Given the description of an element on the screen output the (x, y) to click on. 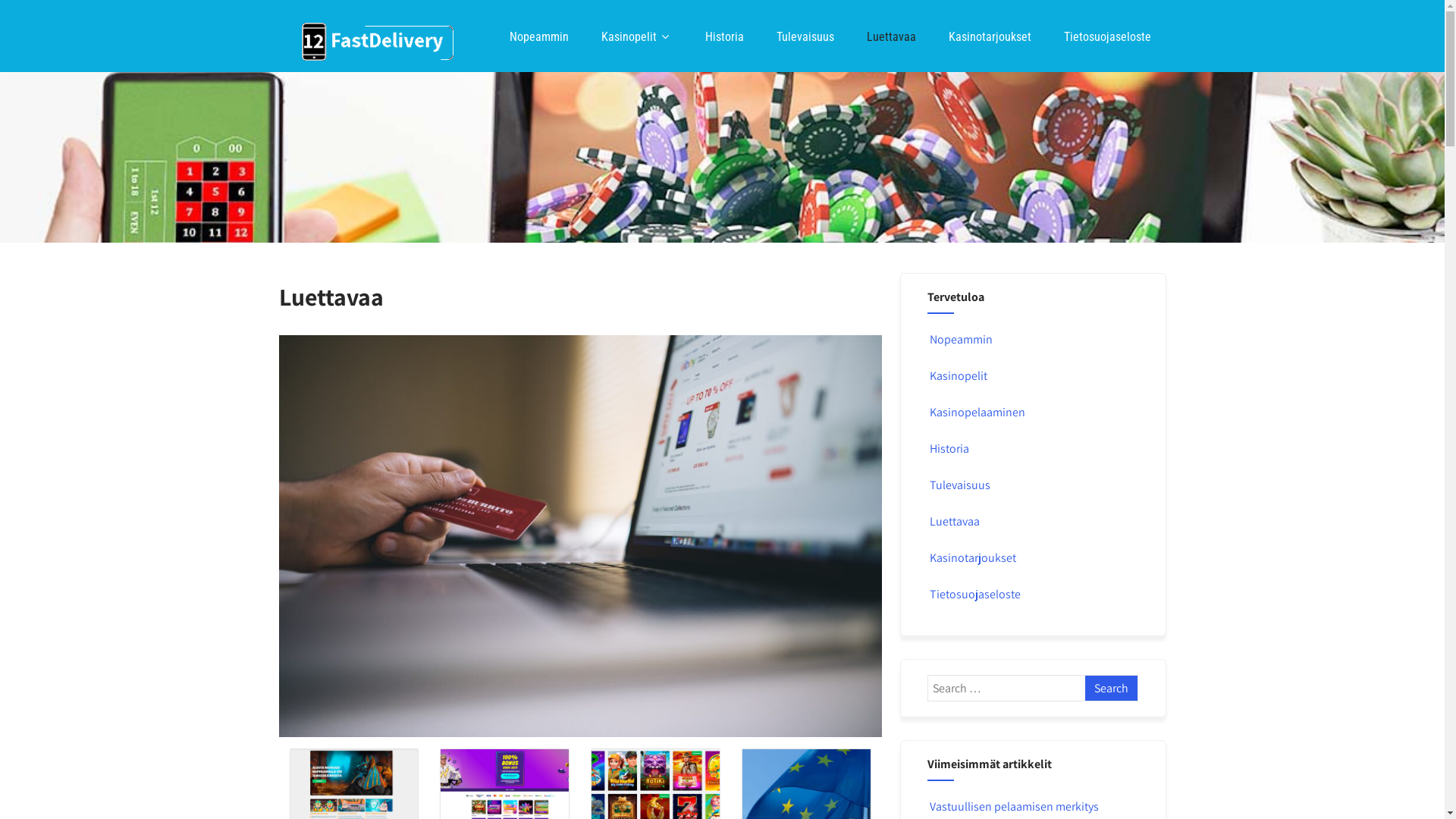
Kasinopelit Element type: text (957, 375)
Nopeammin Element type: text (538, 36)
Tietosuojaseloste Element type: text (1106, 36)
Tietosuojaseloste Element type: text (973, 594)
Historia Element type: text (948, 448)
Kasinotarjoukset Element type: text (971, 557)
Search Element type: text (1111, 687)
Kasinotarjoukset Element type: text (988, 36)
Historia Element type: text (724, 36)
Tulevaisuus Element type: text (805, 36)
Kasinopelit Element type: text (636, 36)
Pelaamaan pikana Element type: hover (377, 41)
Kasinopelaaminen Element type: text (976, 412)
Luettavaa Element type: text (953, 521)
Tulevaisuus Element type: text (958, 484)
Nopeammin Element type: text (959, 339)
Luettavaa Element type: text (890, 36)
